Given the description of an element on the screen output the (x, y) to click on. 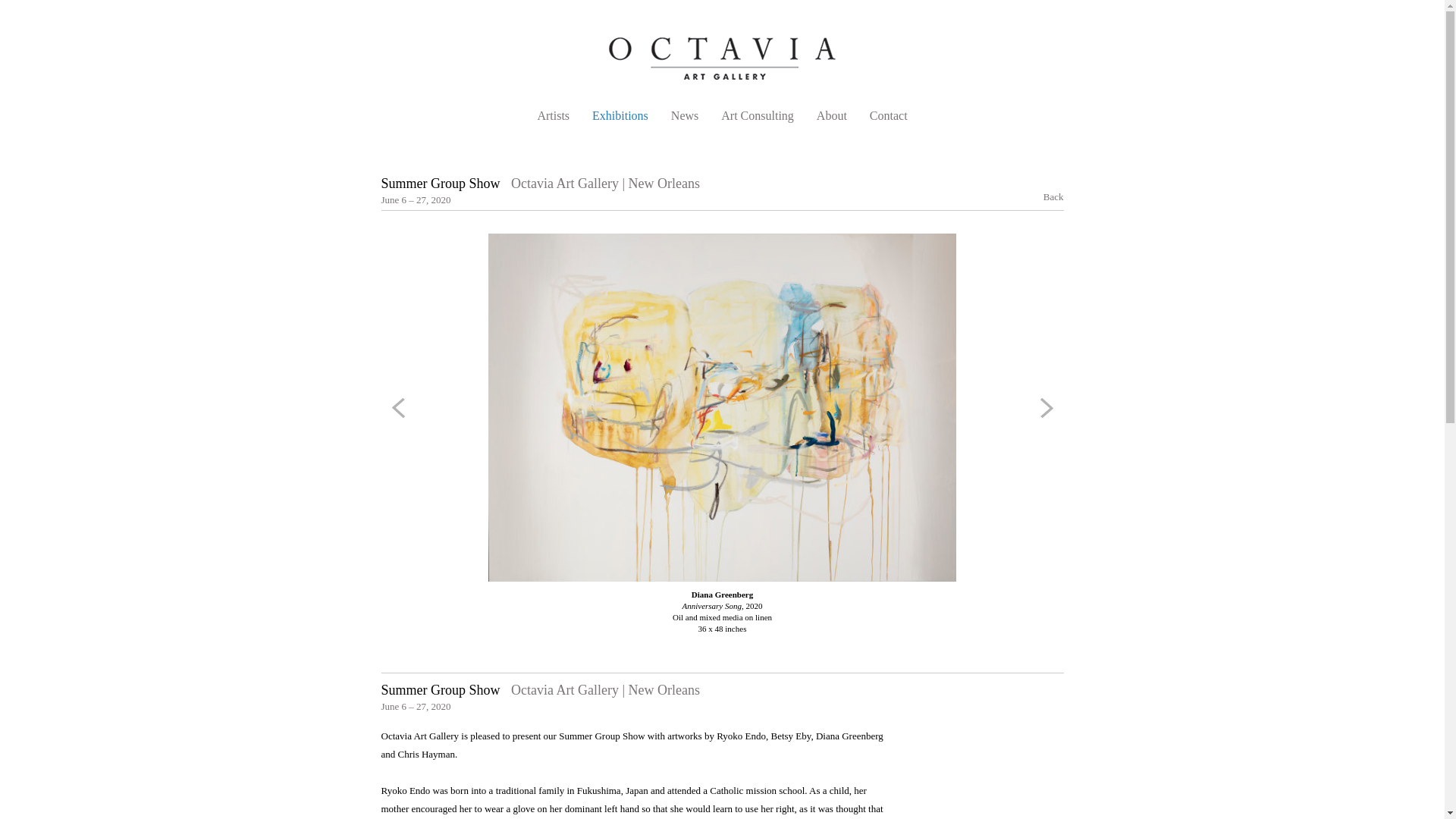
Artists (553, 115)
Prev (400, 407)
News (684, 115)
Next (1042, 407)
Exhibitions (619, 115)
Contact (888, 115)
Art Consulting (756, 115)
About (831, 115)
